Given the description of an element on the screen output the (x, y) to click on. 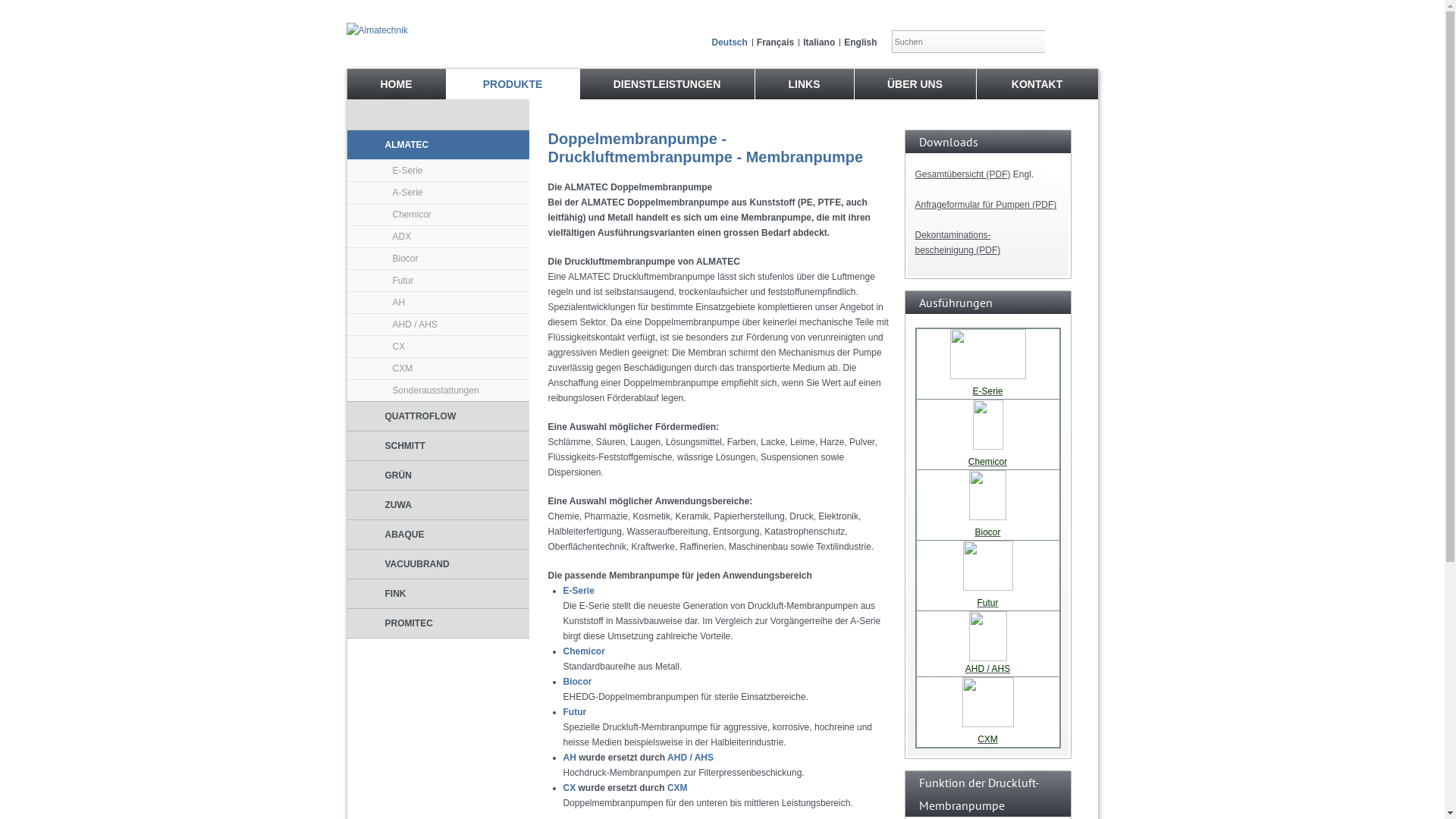
PROMITEC Element type: text (438, 622)
A-Serie Element type: text (438, 192)
Futur Element type: text (986, 602)
PRODUKTE Element type: text (511, 84)
ADX Element type: text (438, 236)
E-Serie Element type: text (987, 390)
ALMATEC Element type: text (438, 144)
Chemicor Element type: text (987, 461)
AHD / AHS Element type: text (987, 668)
Deutsch Element type: text (728, 42)
DIENSTLEISTUNGEN Element type: text (666, 84)
KONTAKT Element type: text (1037, 84)
Futur Element type: text (574, 711)
Futur Element type: text (438, 280)
Sonderausstattungen Element type: text (438, 390)
CXM Element type: text (987, 739)
SCHMITT Element type: text (438, 445)
AH Element type: text (438, 302)
FINK Element type: text (438, 593)
Biocor Element type: text (987, 532)
AH Element type: text (568, 757)
Biocor Element type: text (438, 258)
Chemicor Element type: text (438, 214)
ZUWA Element type: text (438, 504)
E-Serie Element type: text (438, 170)
bescheinigung (PDF) Element type: text (957, 249)
HOME Element type: text (396, 84)
QUATTROFLOW Element type: text (438, 415)
AHD / AHS Element type: text (438, 324)
Dekontaminations- Element type: text (952, 234)
E-Serie Element type: text (577, 590)
CXM Element type: text (677, 787)
CX Element type: text (568, 787)
AHD / AHS Element type: text (690, 757)
Chemicor Element type: text (583, 651)
Biocor Element type: text (576, 681)
ABAQUE Element type: text (438, 534)
English Element type: text (860, 42)
LINKS Element type: text (804, 84)
CX Element type: text (438, 346)
VACUUBRAND Element type: text (438, 563)
Italiano Element type: text (818, 42)
CXM Element type: text (438, 368)
